Given the description of an element on the screen output the (x, y) to click on. 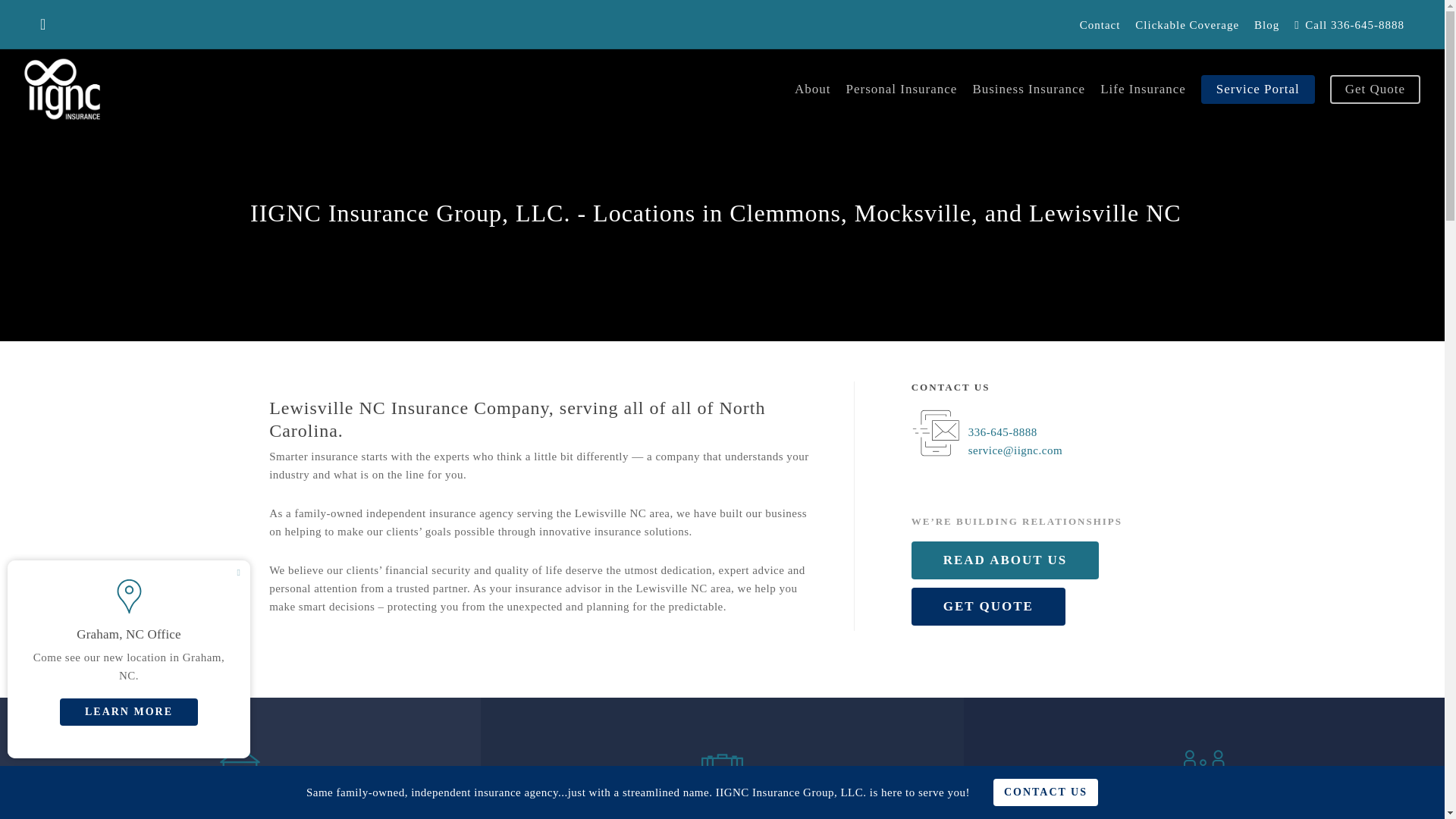
About (812, 89)
Get Quote (1375, 89)
Blog (1266, 25)
Clickable Coverage (1186, 25)
336-645-8888 (1002, 431)
Call 336-645-8888 (1349, 25)
Power Panel: New Location (128, 659)
GET QUOTE (988, 606)
Personal Insurance (901, 89)
Contact (1099, 25)
READ ABOUT US (1005, 560)
Service Portal (1257, 89)
Business Insurance (1028, 89)
Life Insurance (1143, 89)
